Given the description of an element on the screen output the (x, y) to click on. 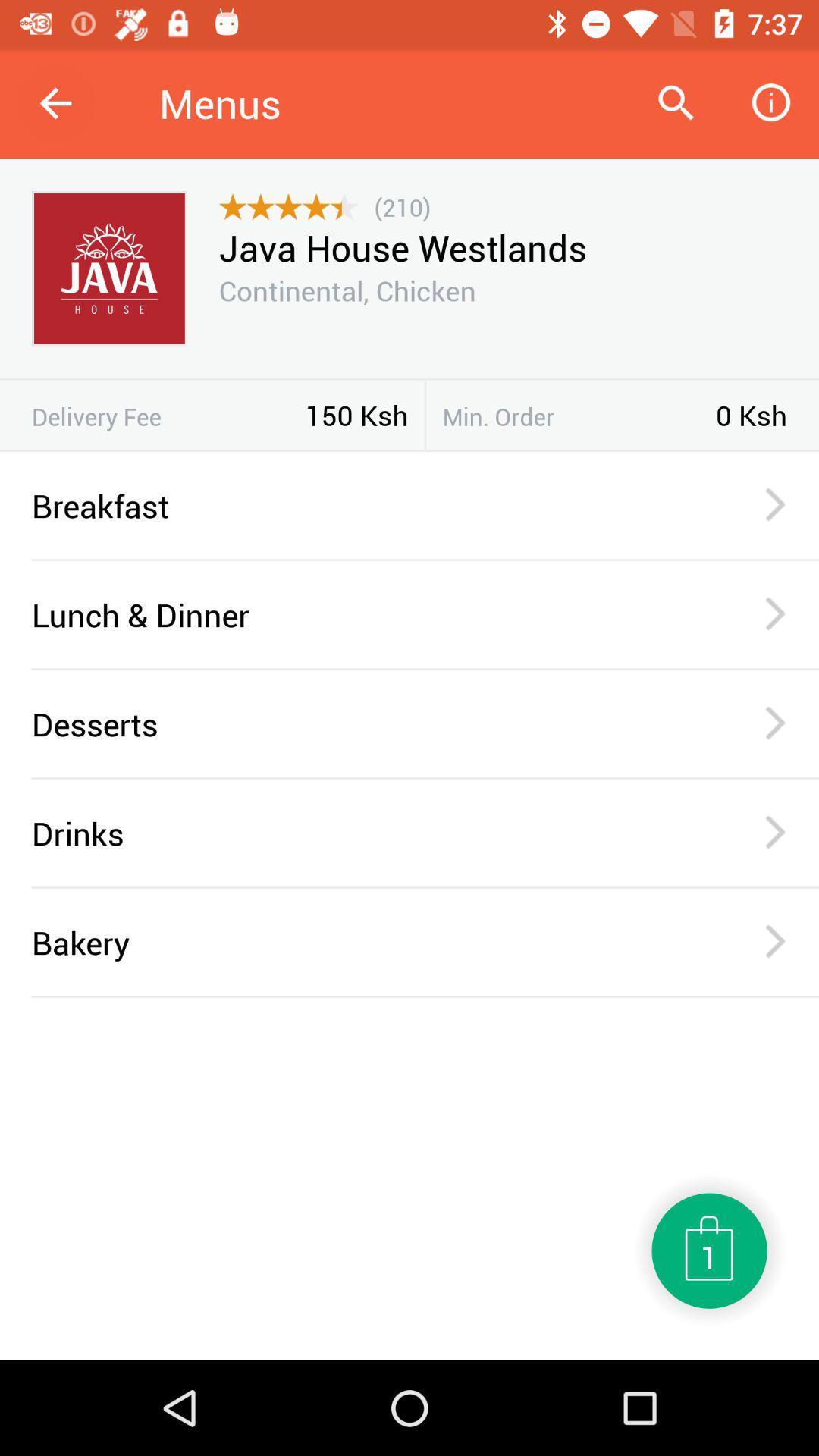
click the icon next to the menus (675, 103)
